Given the description of an element on the screen output the (x, y) to click on. 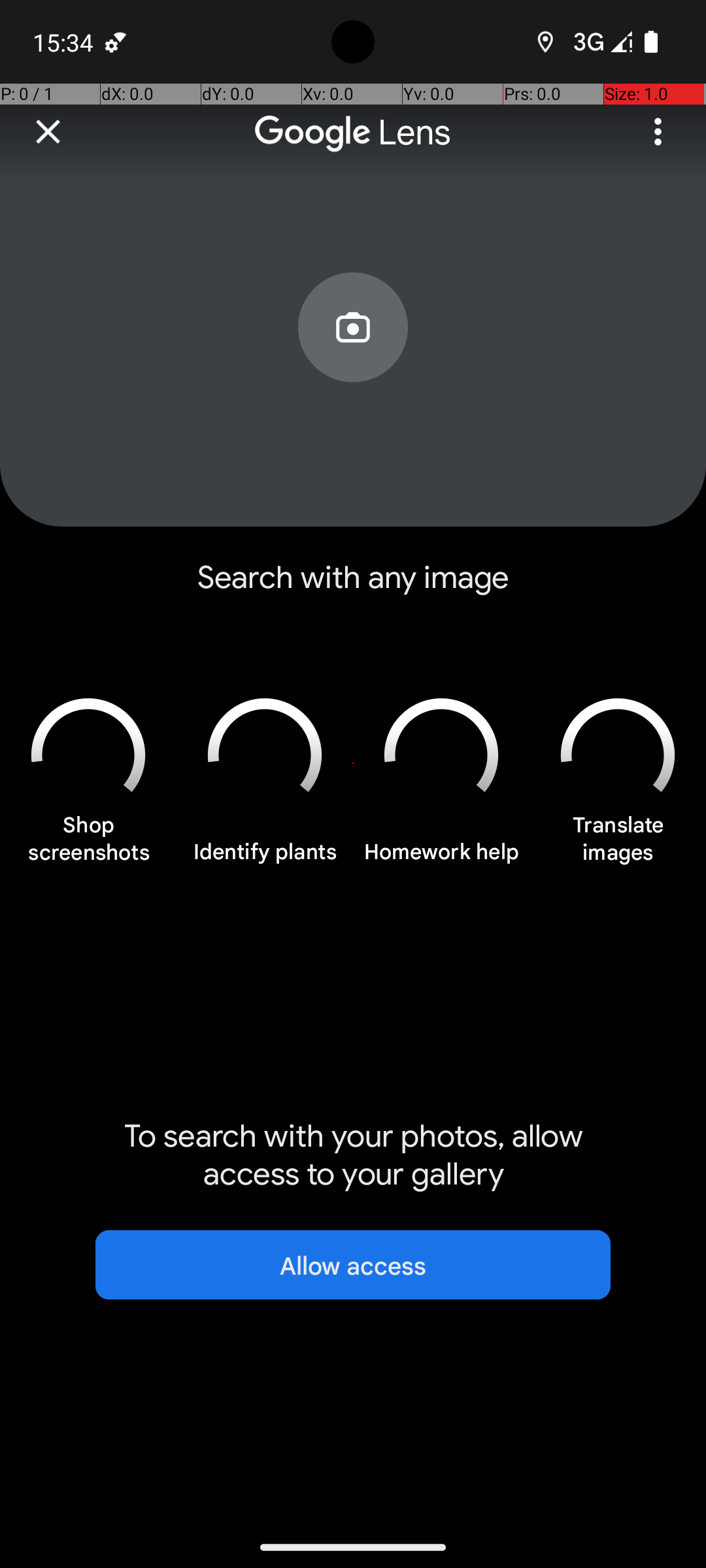
Search with your camera Element type: android.widget.FrameLayout (353, 356)
Search with any image Element type: android.widget.TextView (353, 587)
Shop screenshots Element type: android.widget.TextView (88, 845)
Identify plants Element type: android.widget.TextView (264, 858)
Homework help Element type: android.widget.TextView (441, 858)
Translate images Element type: android.widget.TextView (617, 845)
To search with your photos, allow access to your gallery Element type: android.widget.TextView (352, 1154)
Allow access Element type: android.widget.Button (352, 1264)
